Given the description of an element on the screen output the (x, y) to click on. 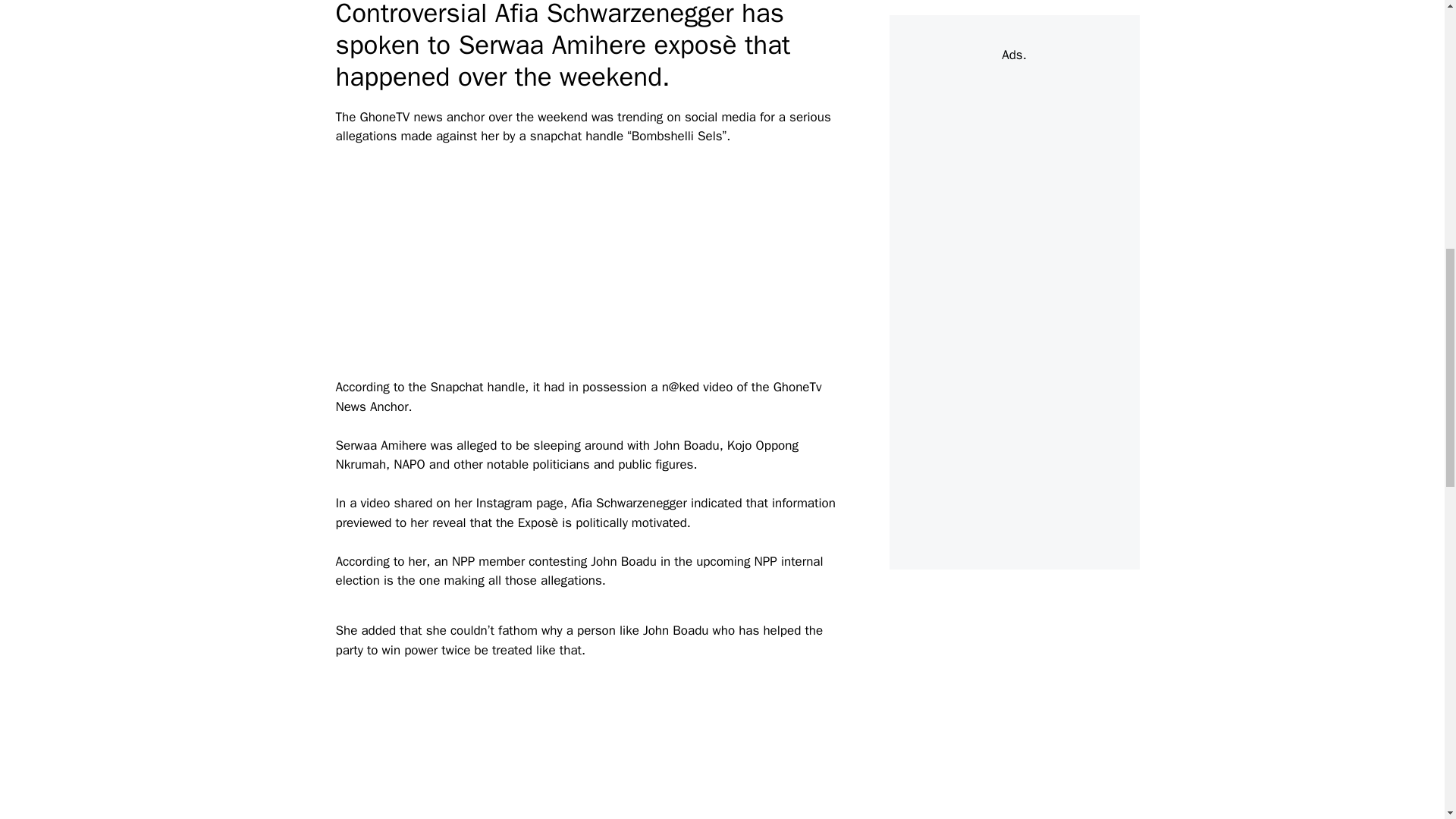
Advertisement (611, 749)
Advertisement (611, 271)
